Given the description of an element on the screen output the (x, y) to click on. 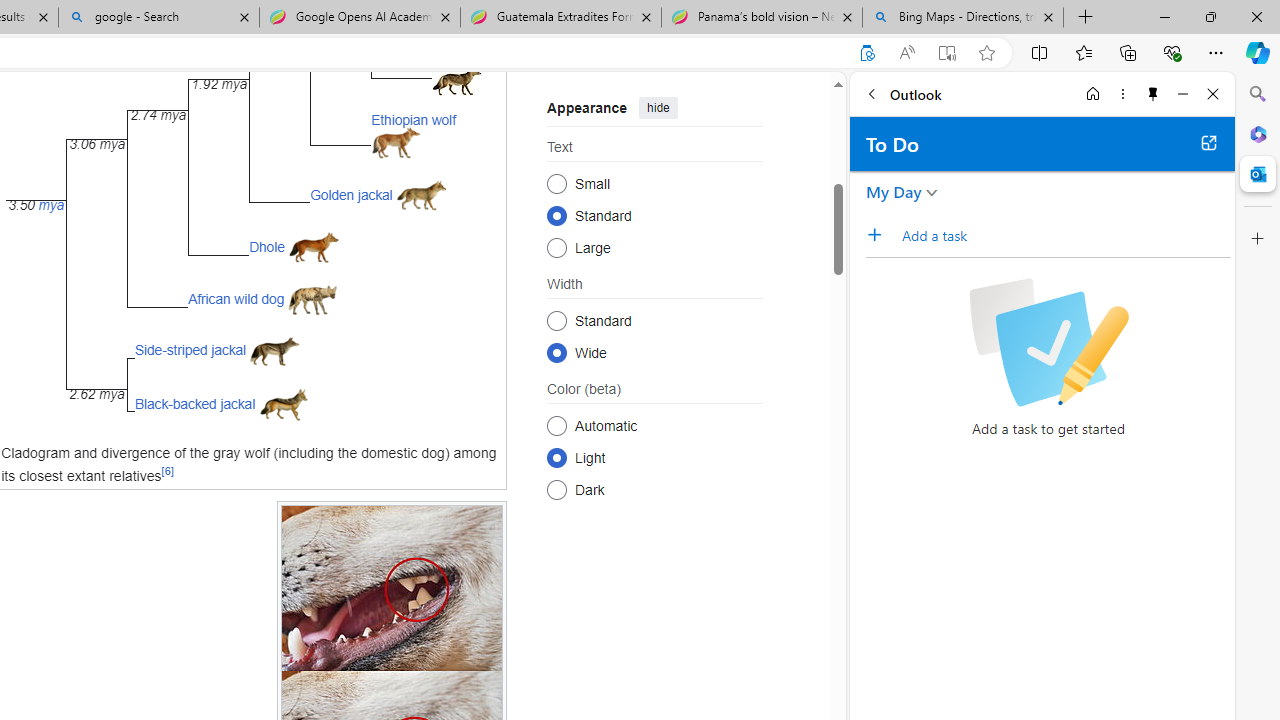
hide (658, 107)
Black-backed jackal (195, 403)
Add a task (881, 235)
Side-striped jackal (190, 350)
Class: mw-file-element (283, 404)
Google Opens AI Academy for Startups - Nearshore Americas (359, 17)
